Given the description of an element on the screen output the (x, y) to click on. 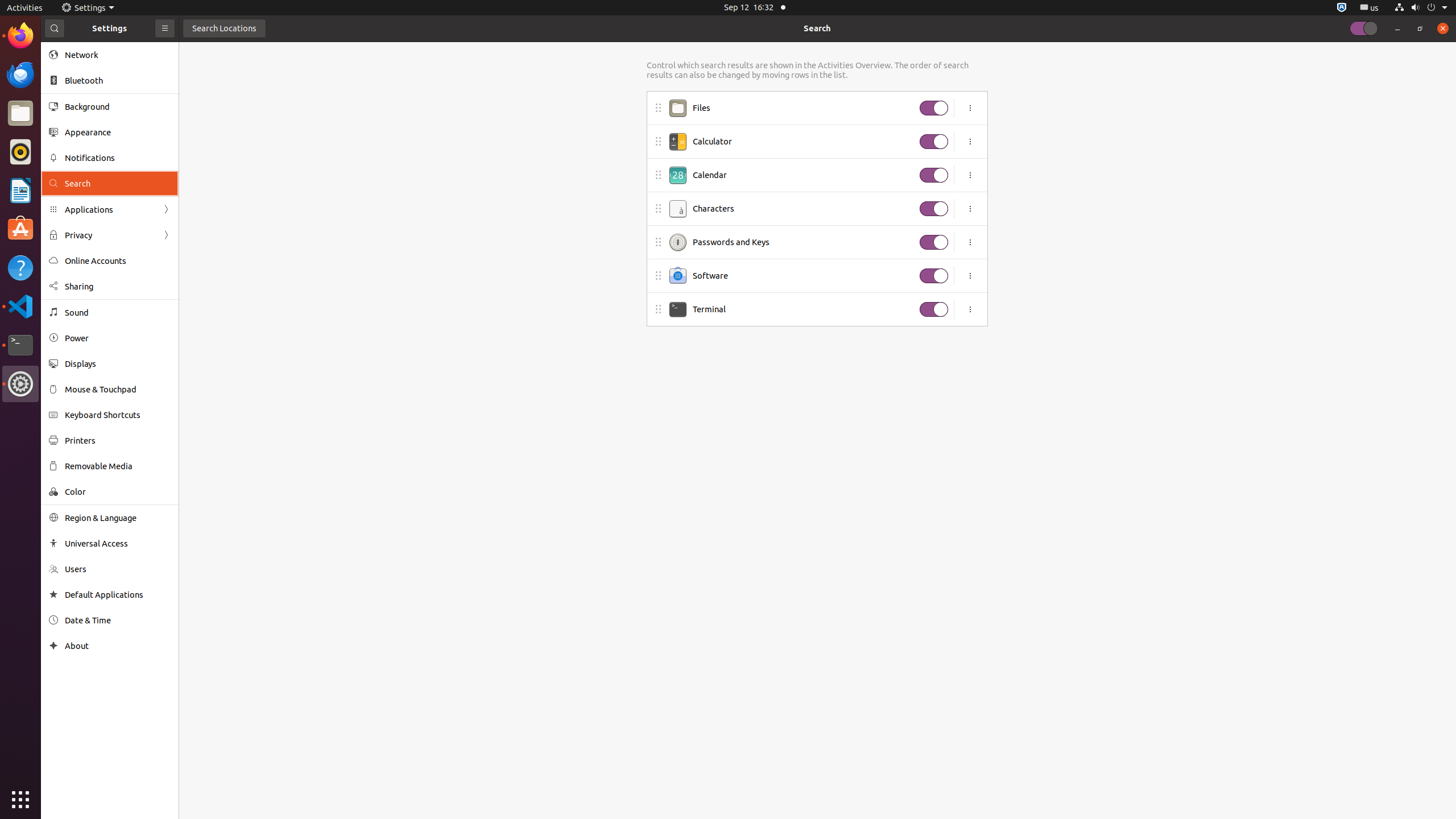
Primary Menu Element type: toggle-button (164, 28)
About Element type: icon (53, 645)
Mouse & Touchpad Element type: label (117, 389)
Settings Element type: push-button (20, 383)
